Given the description of an element on the screen output the (x, y) to click on. 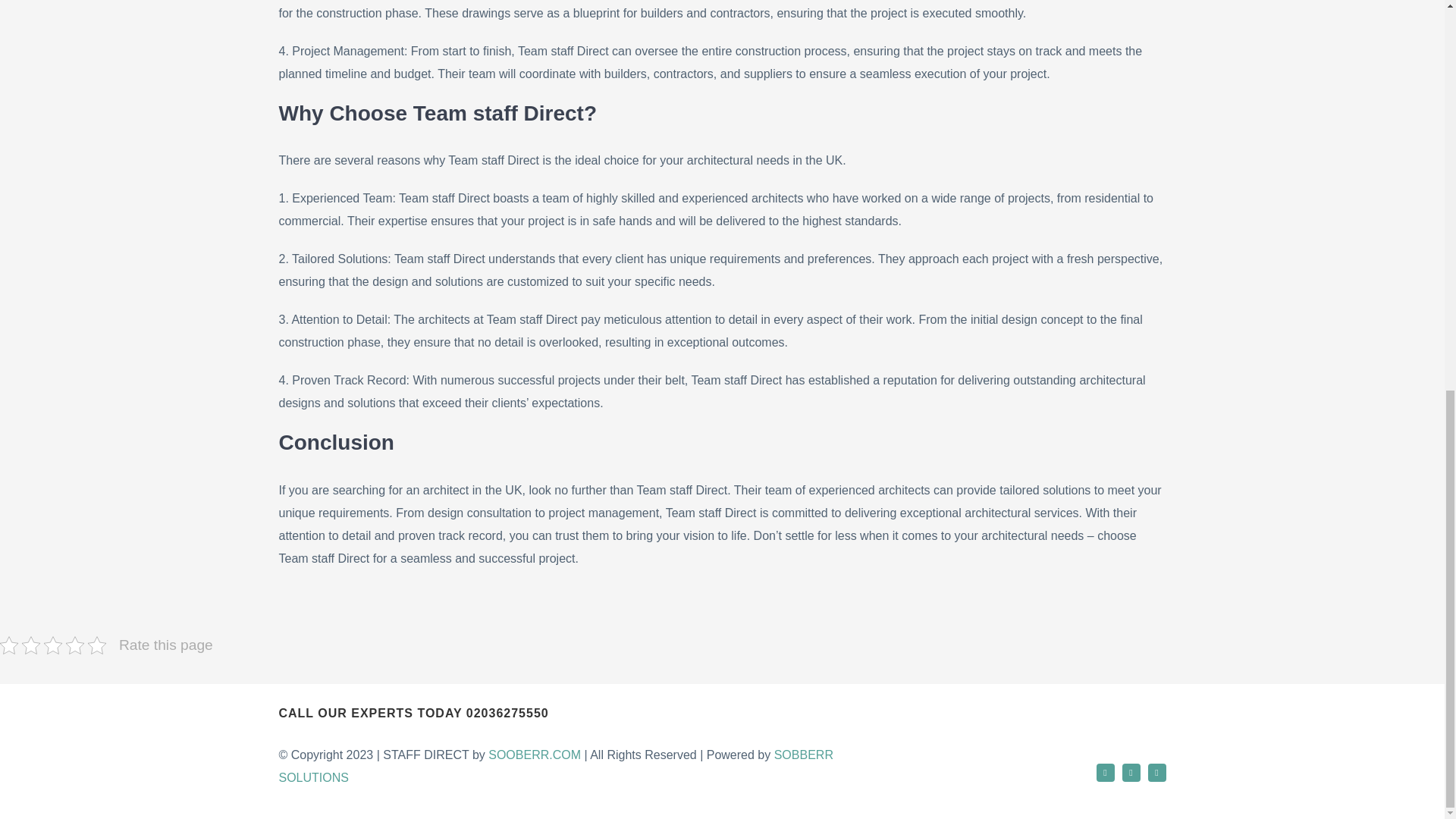
SOOBERR.COM (533, 754)
SOBBERR SOLUTIONS (555, 765)
X (1131, 772)
Facebook (1105, 772)
LinkedIn (1157, 772)
